Given the description of an element on the screen output the (x, y) to click on. 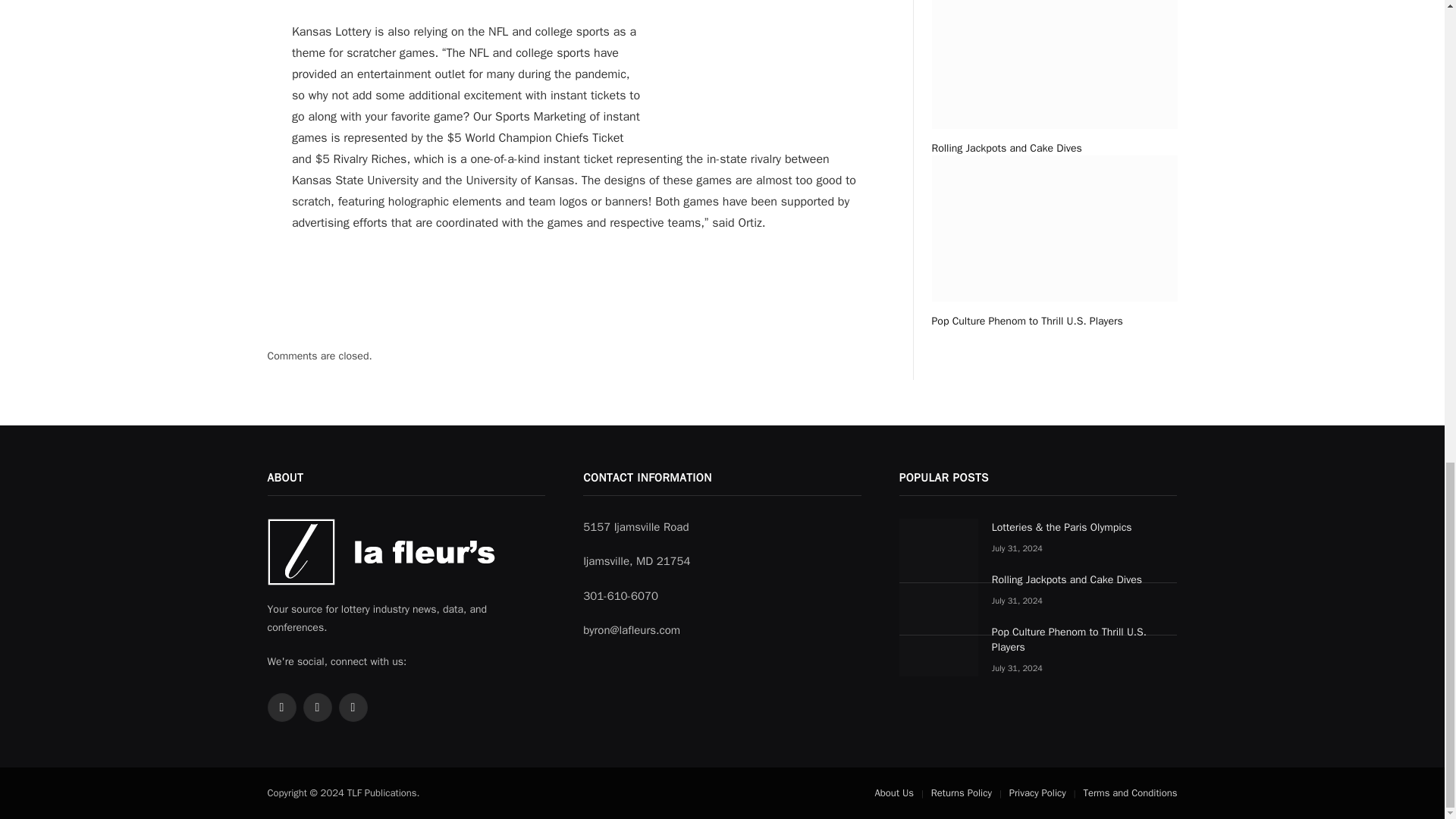
RSS (316, 706)
Rolling Jackpots and Cake Dives (1053, 147)
Pop Culture Phenom to Thrill U.S. Players (1053, 320)
LinkedIn (351, 706)
Twitter (280, 706)
